Given the description of an element on the screen output the (x, y) to click on. 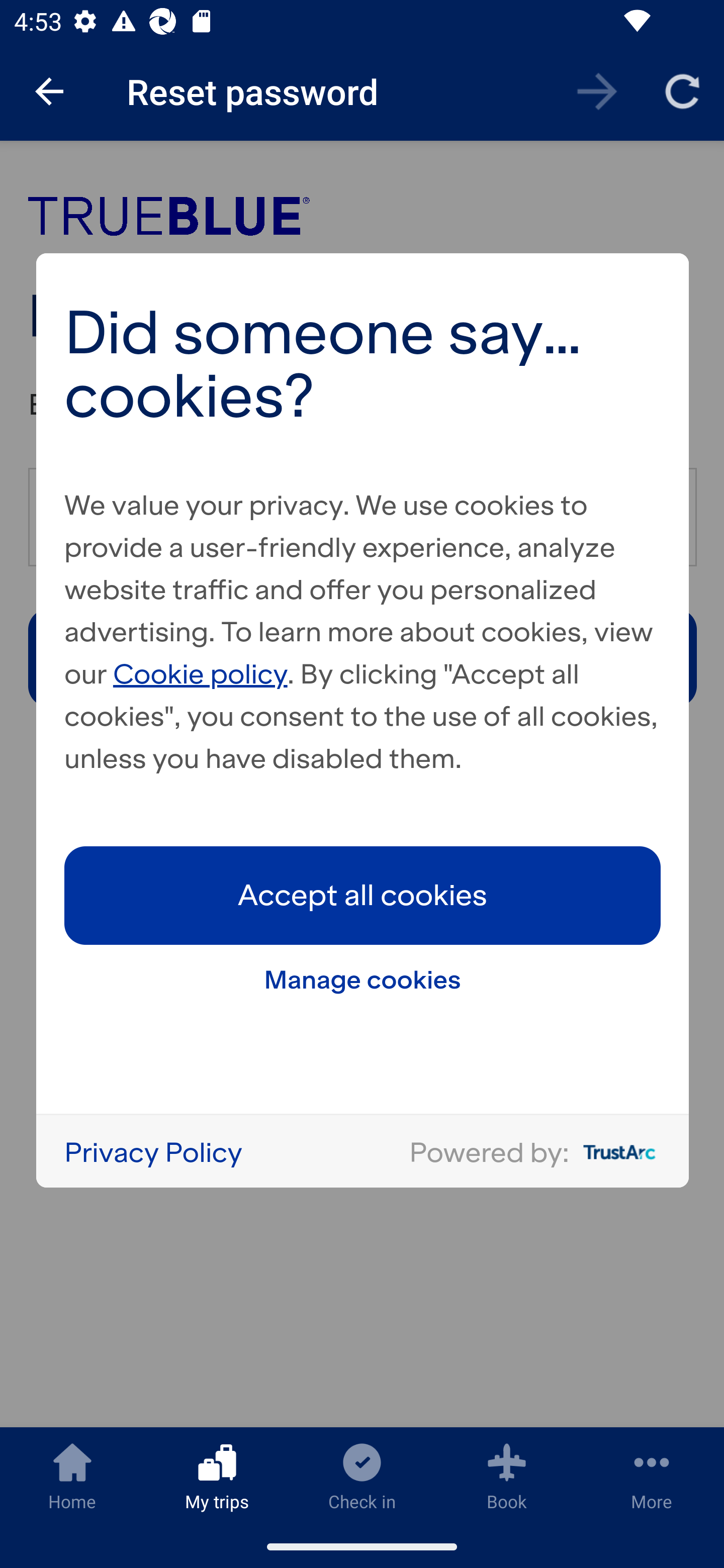
Navigate up (49, 91)
Forward (597, 90)
Reload (681, 90)
Cookie policy (200, 673)
Accept all cookies (362, 895)
Manage cookies (362, 979)
Privacy Policy (152, 1151)
Company logo for TrustArc (614, 1152)
Home (72, 1475)
Check in (361, 1475)
Book (506, 1475)
More (651, 1475)
